Given the description of an element on the screen output the (x, y) to click on. 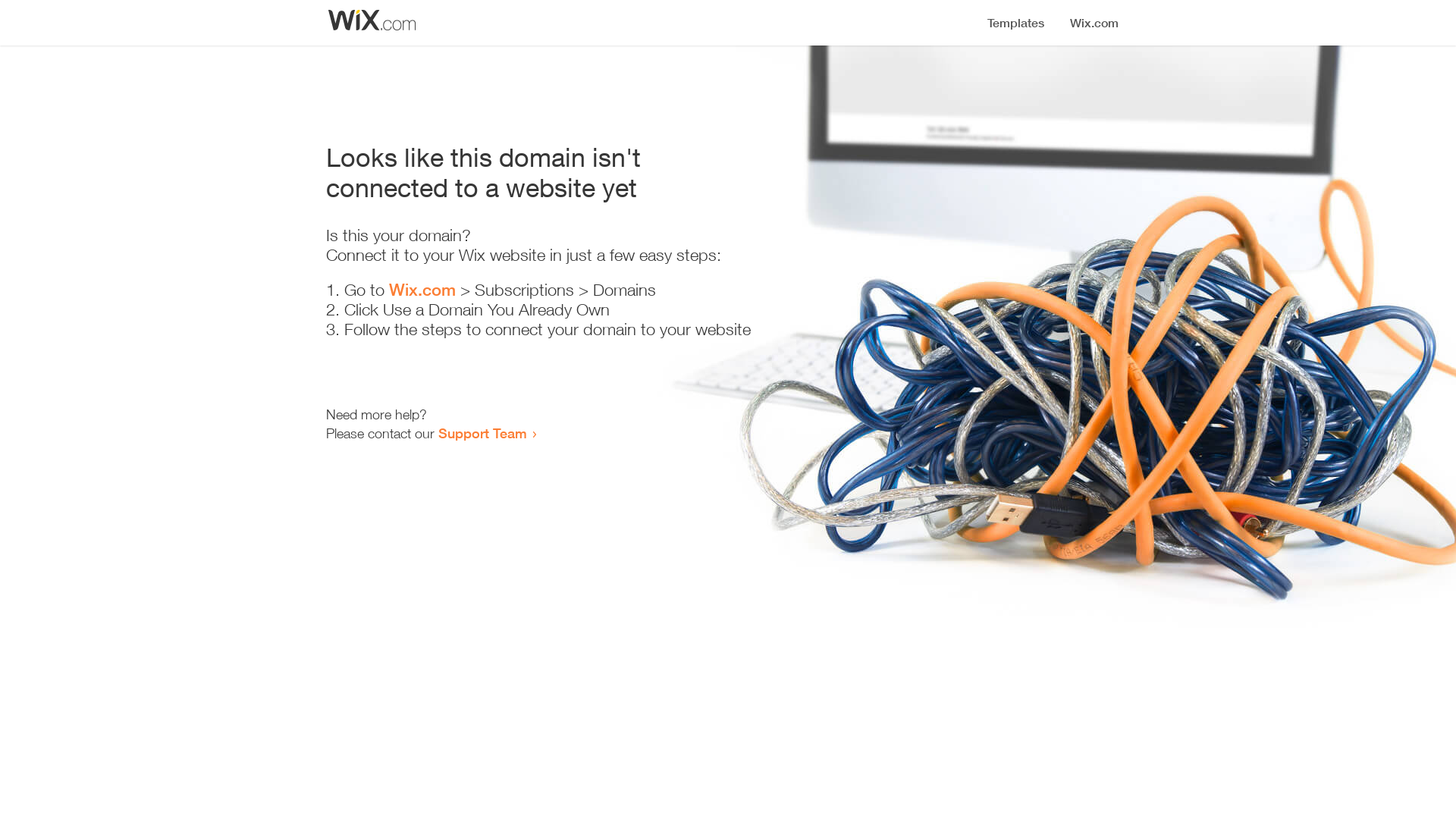
Support Team Element type: text (482, 432)
Wix.com Element type: text (422, 289)
